Given the description of an element on the screen output the (x, y) to click on. 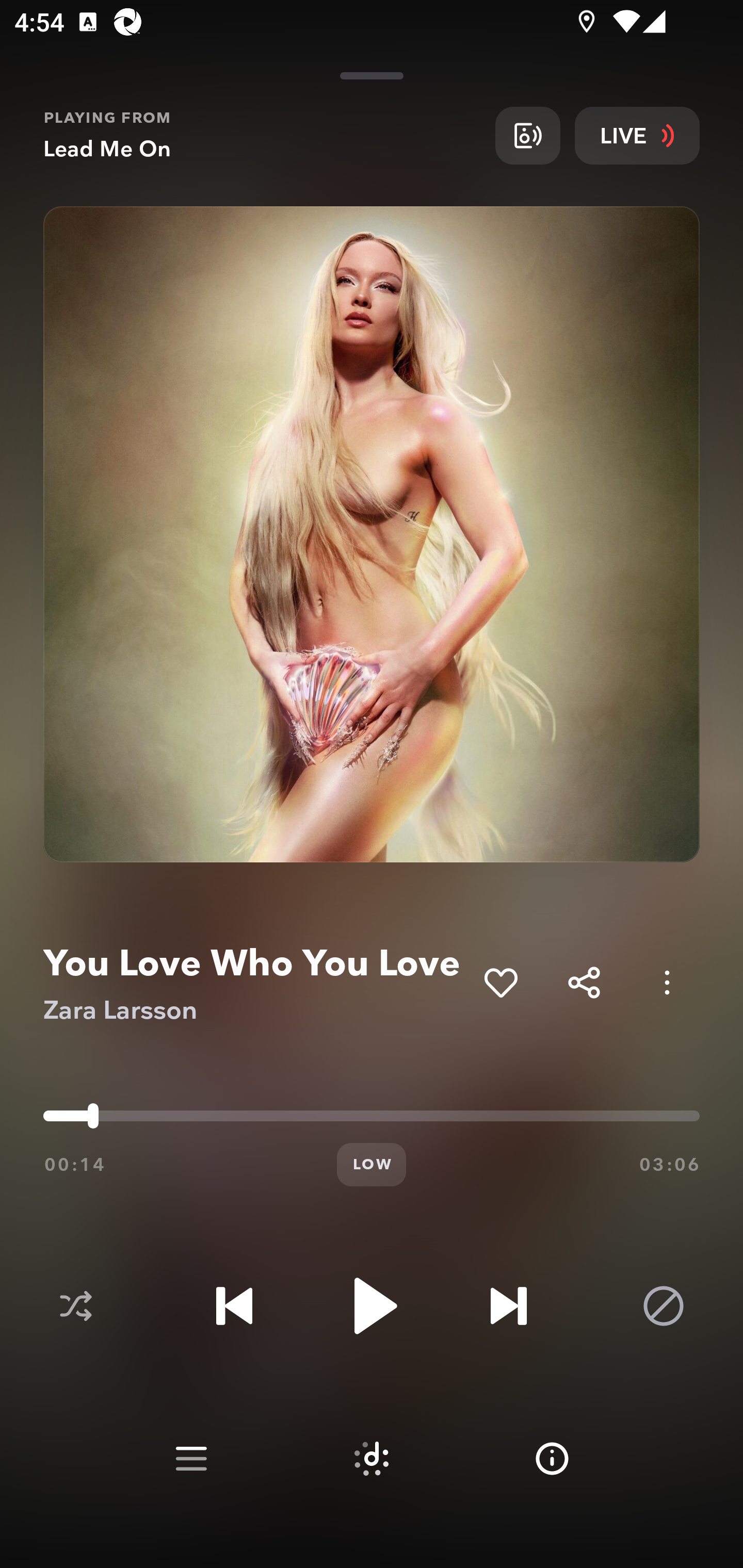
Broadcast (527, 135)
LIVE (637, 135)
PLAYING FROM Lead Me On (261, 135)
You Love Who You Love Zara Larsson (255, 983)
Add to My Collection (500, 982)
Share (583, 982)
Options (666, 982)
LOW (371, 1164)
Play (371, 1306)
Previous (234, 1306)
Next (508, 1306)
Block (663, 1306)
Shuffle disabled (75, 1306)
Play queue (191, 1458)
Suggested tracks (371, 1458)
Info (551, 1458)
